Given the description of an element on the screen output the (x, y) to click on. 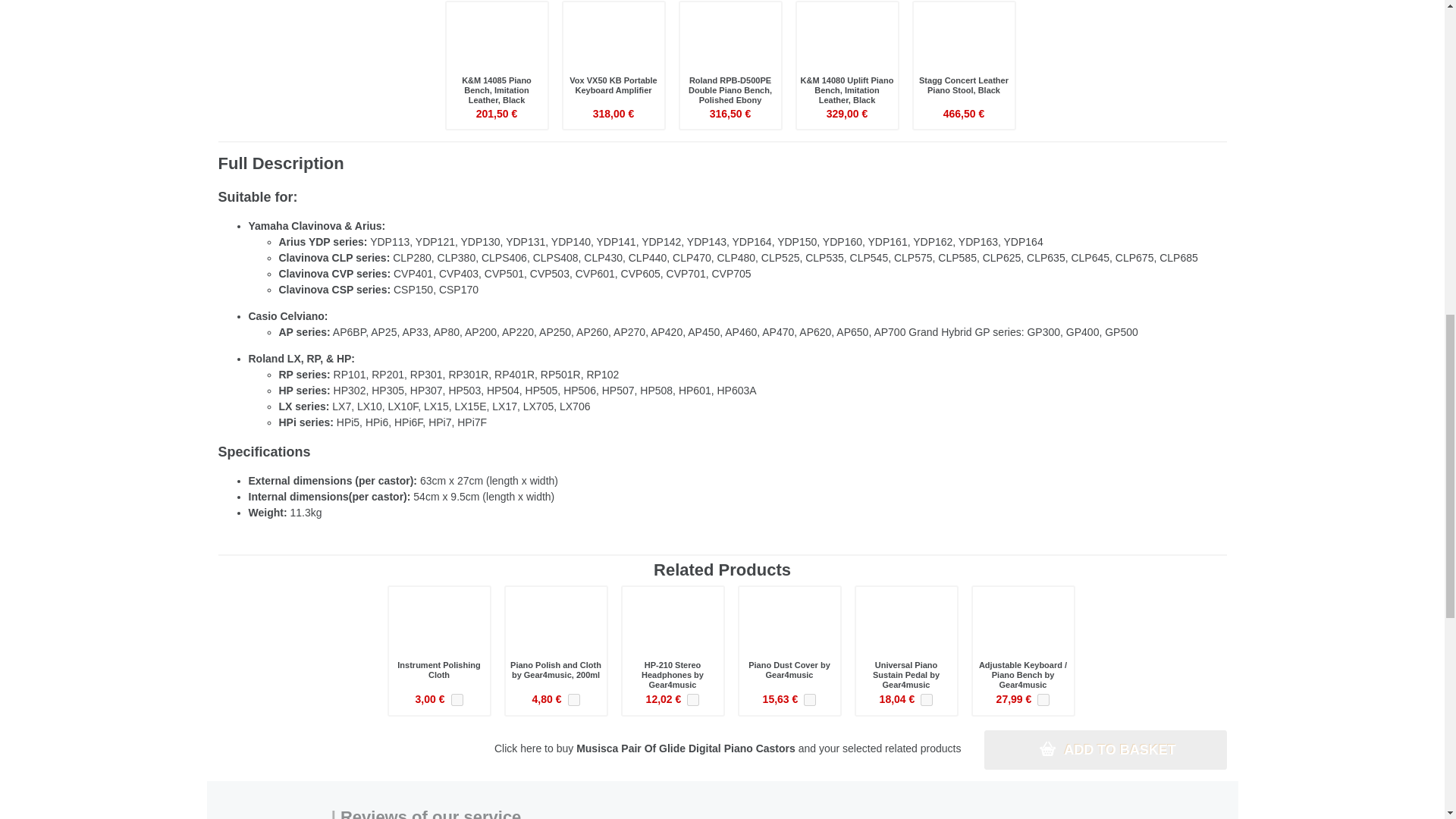
1 (809, 699)
1 (456, 699)
1 (1042, 699)
1 (926, 699)
1 (692, 699)
1 (573, 699)
